Given the description of an element on the screen output the (x, y) to click on. 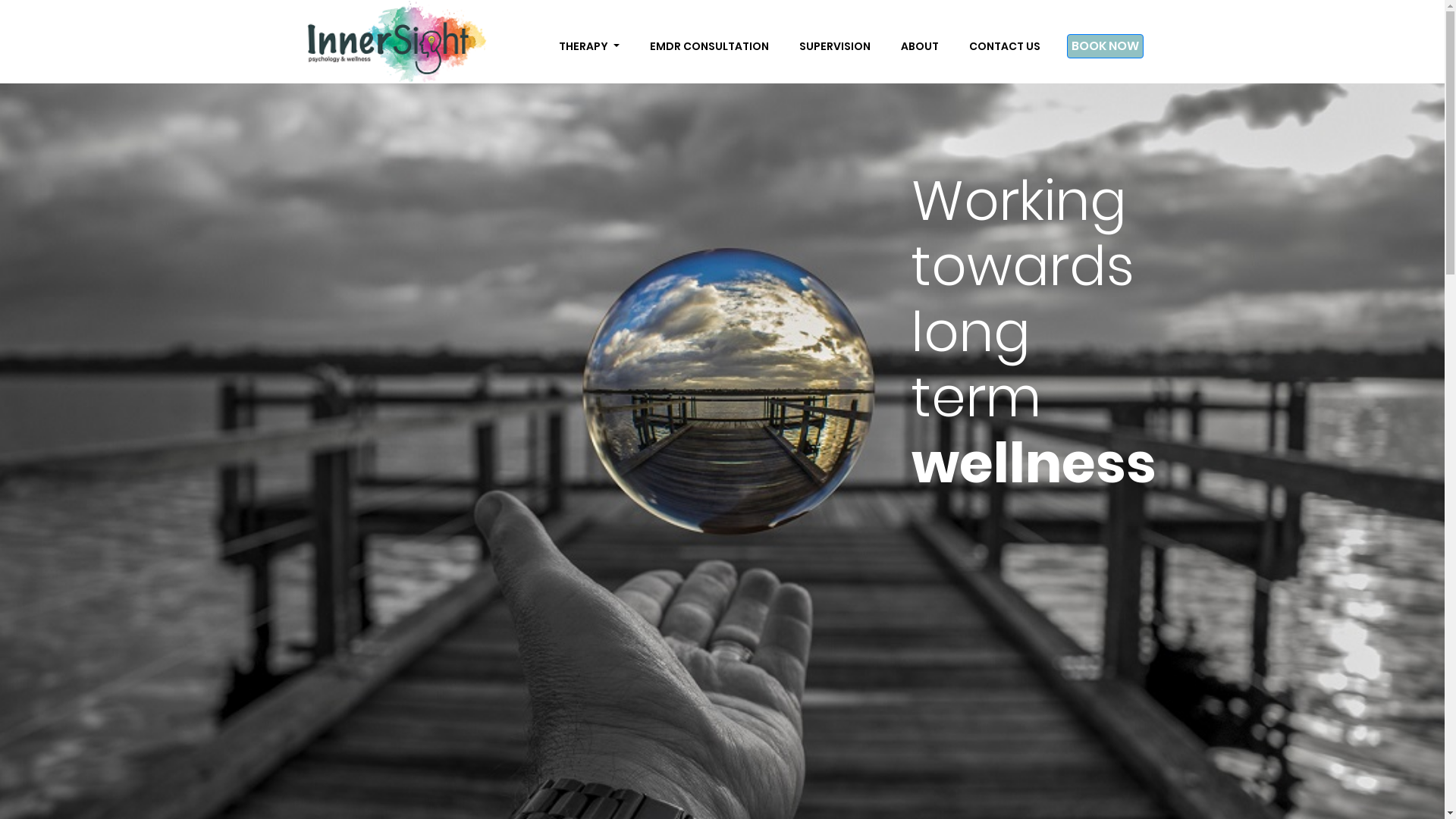
CONTACT US Element type: text (1004, 45)
THERAPY Element type: text (588, 45)
BOOK NOW Element type: text (1104, 45)
ABOUT Element type: text (919, 45)
SUPERVISION Element type: text (834, 45)
EMDR CONSULTATION Element type: text (708, 45)
